Given the description of an element on the screen output the (x, y) to click on. 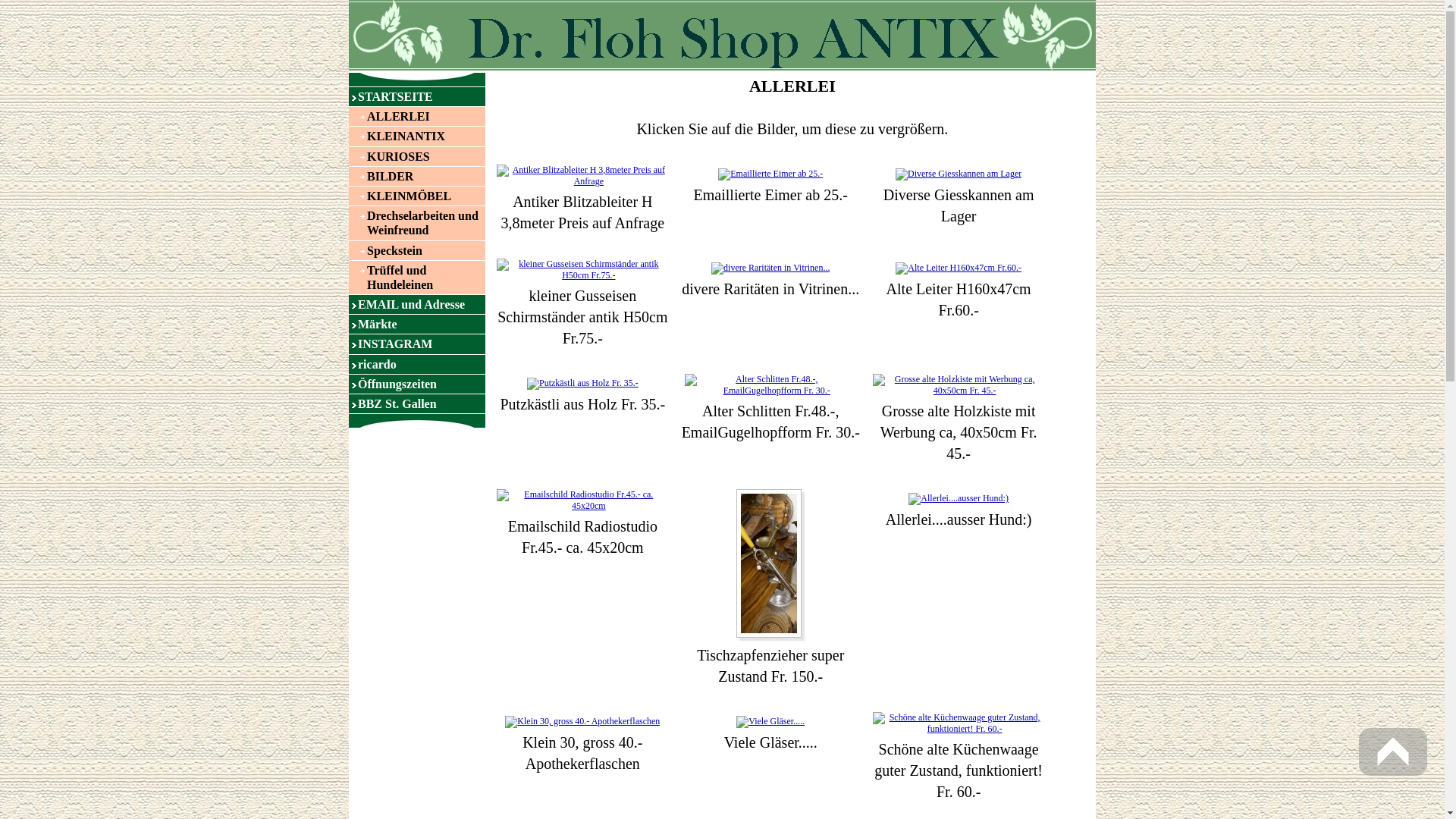
BBZ St. Gallen Element type: text (416, 403)
Alter Schlitten Fr.48.-, EmailGugelhopfform Fr. 30.- Element type: hover (770, 384)
ricardo Element type: text (416, 363)
Drechselarbeiten und Weinfreund Element type: text (416, 222)
Klein 30, gross 40.- Apothekerflaschen Element type: hover (582, 720)
BILDER Element type: text (416, 175)
EMAIL und Adresse Element type: text (416, 303)
Emaillierte Eimer ab 25.- Element type: hover (770, 174)
Tischzapfenzieher super Zustand Fr. 150.- Element type: hover (770, 563)
Alte Leiter H160x47cm Fr.60.- Element type: hover (958, 268)
Antiker Blitzableiter H 3,8meter Preis auf Anfrage Element type: hover (582, 174)
Diverse Giesskannen am Lager Element type: hover (958, 174)
KLEINANTIX Element type: text (416, 135)
Allerlei....ausser Hund:) Element type: hover (958, 497)
ALLERLEI Element type: text (416, 115)
Grosse alte Holzkiste mit Werbung ca, 40x50cm Fr. 45.- Element type: hover (958, 384)
Diverse Giesskannen am Lager Element type: hover (958, 173)
Speckstein Element type: text (416, 250)
KURIOSES Element type: text (416, 156)
Antiker Blitzableiter H 3,8meter Preis auf Anfrage Element type: hover (582, 175)
Emailschild Radiostudio Fr.45.-  ca. 45x20cm Element type: hover (582, 499)
Alter Schlitten Fr.48.-, EmailGugelhopfform Fr. 30.- Element type: hover (770, 384)
STARTSEITE Element type: text (416, 96)
ALLERLEI - antix.ch Element type: hover (721, 35)
Emailschild Radiostudio Fr.45.-  ca. 45x20cm Element type: hover (582, 500)
Tischzapfenzieher super Zustand Fr. 150.- Element type: hover (770, 564)
Allerlei....ausser Hund:) Element type: hover (958, 498)
Grosse alte Holzkiste mit Werbung ca, 40x50cm Fr. 45.- Element type: hover (958, 384)
Klein 30, gross 40.- Apothekerflaschen Element type: hover (582, 721)
INSTAGRAM Element type: text (416, 343)
Emaillierte Eimer ab 25.- Element type: hover (770, 173)
Alte Leiter H160x47cm Fr.60.- Element type: hover (958, 267)
